Given the description of an element on the screen output the (x, y) to click on. 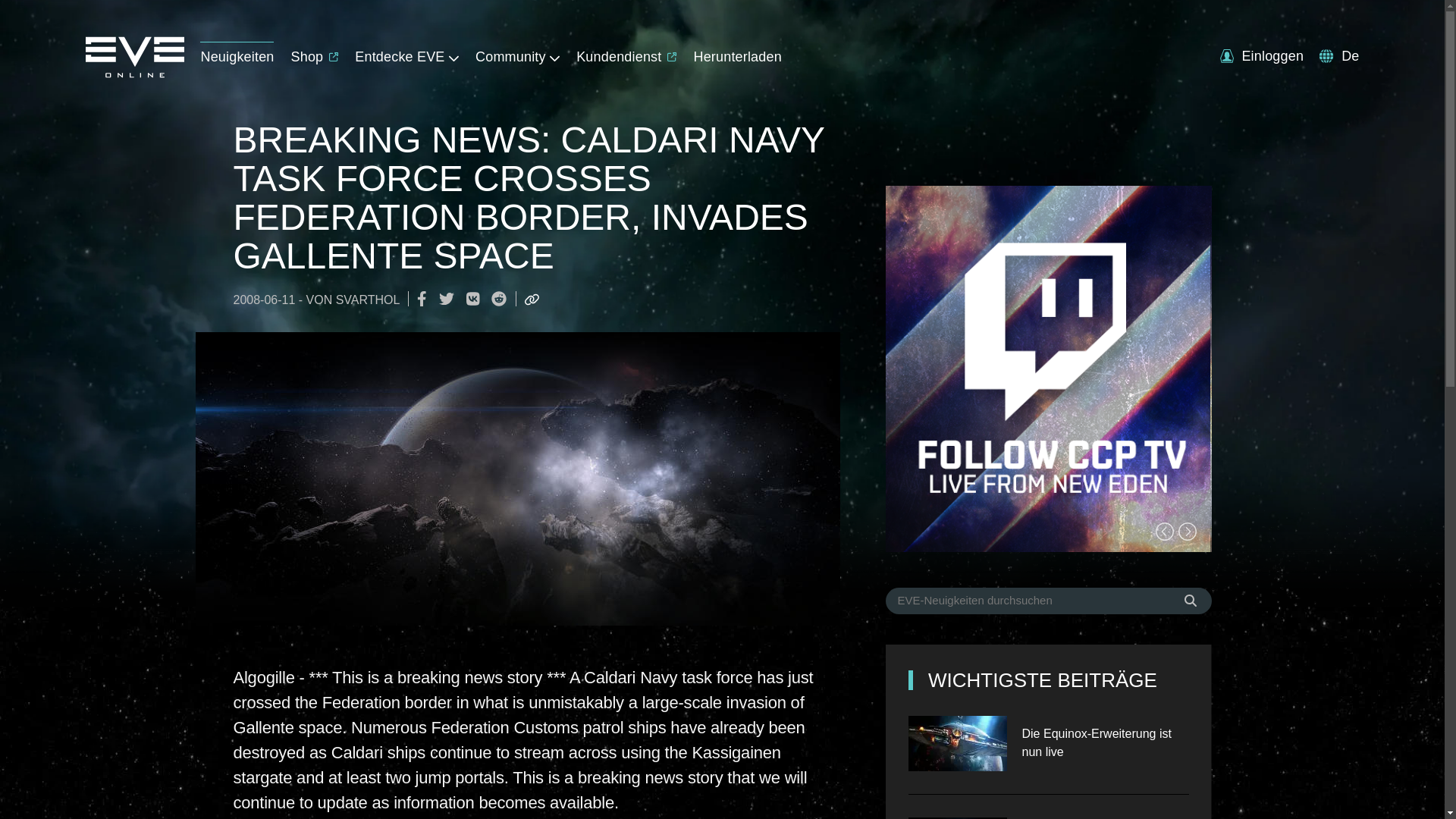
Shop (315, 53)
Kundendienst (626, 53)
Home (133, 72)
Herunterladen (736, 53)
Neuigkeiten (236, 53)
Einloggen (1261, 55)
